Given the description of an element on the screen output the (x, y) to click on. 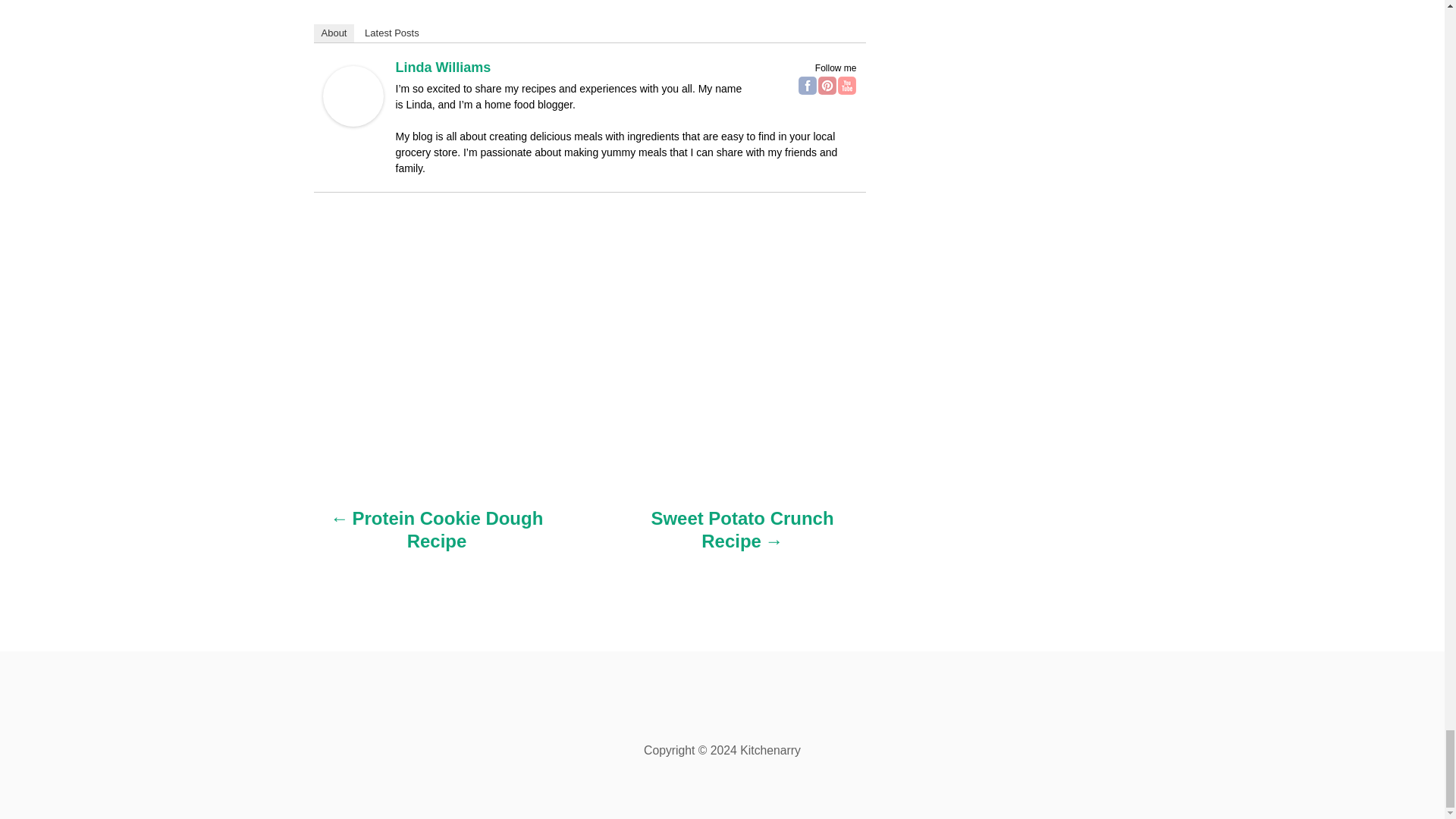
Linda Williams (353, 121)
YouTube (846, 85)
Facebook (806, 85)
Pinterest (825, 85)
